Given the description of an element on the screen output the (x, y) to click on. 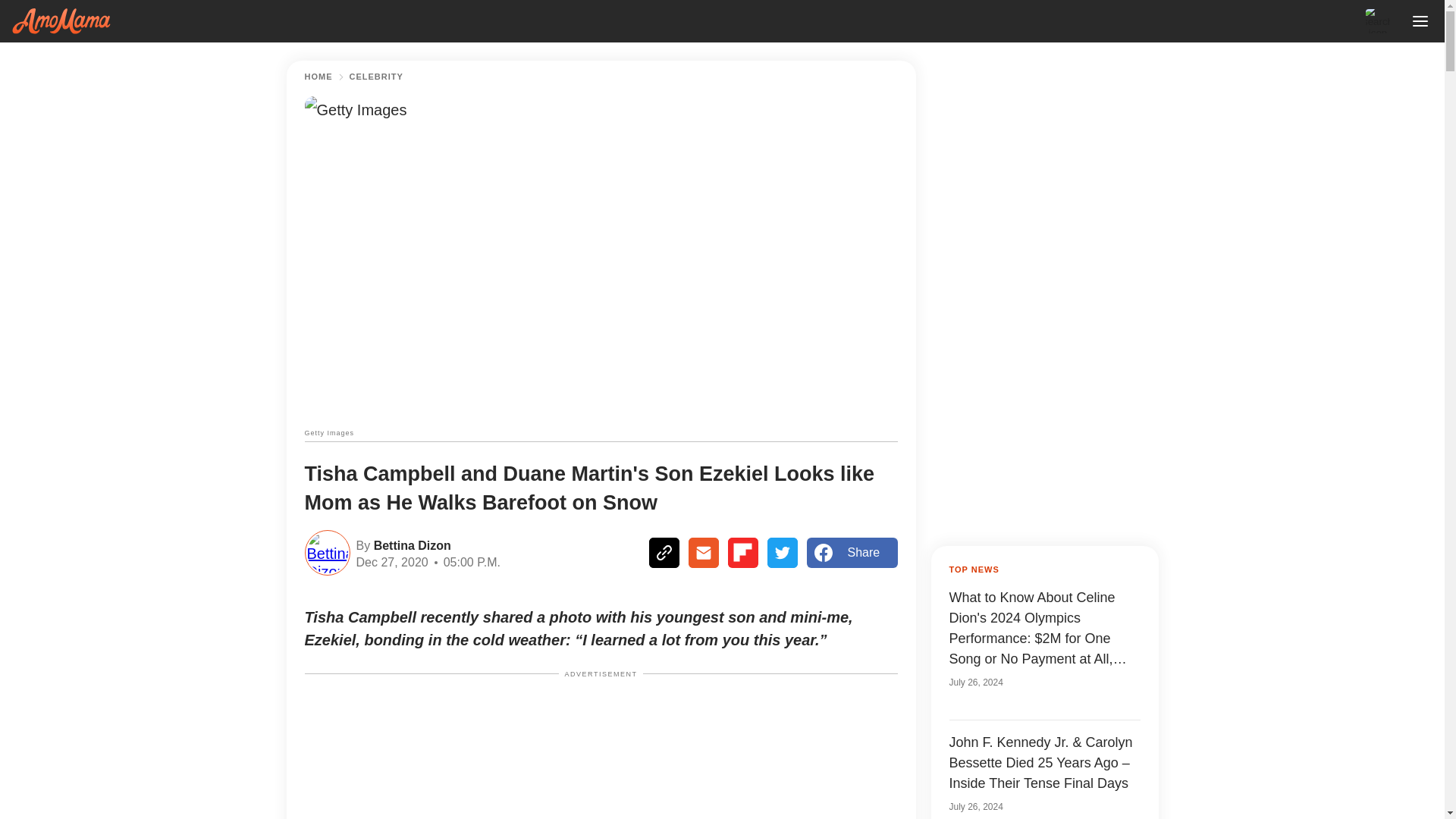
CELEBRITY (376, 76)
HOME (318, 76)
Bettina Dizon (410, 544)
